Given the description of an element on the screen output the (x, y) to click on. 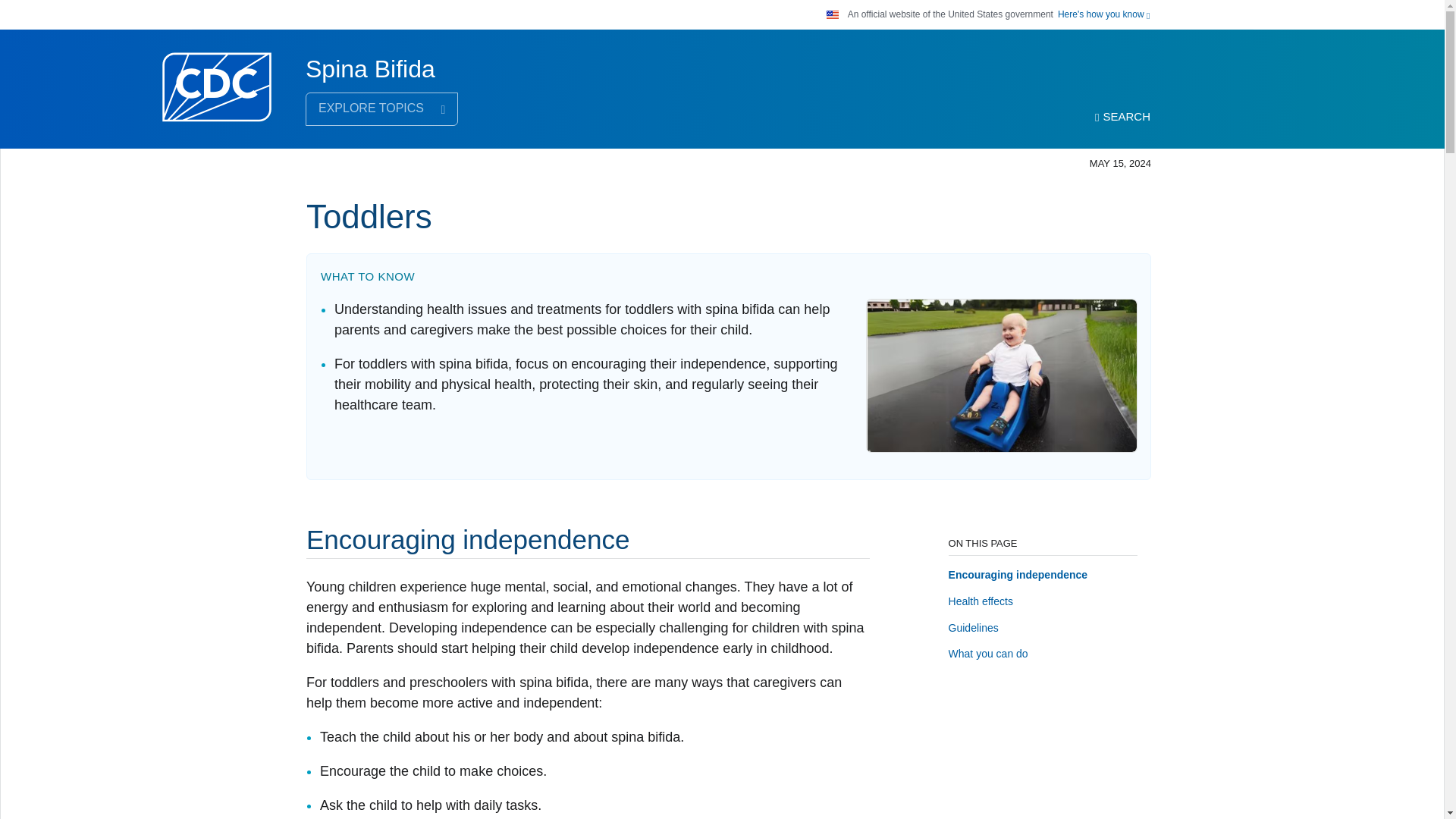
SEARCH (1122, 117)
Spina Bifida (370, 68)
EXPLORE TOPICS (381, 109)
Here's how you know (1104, 14)
